Given the description of an element on the screen output the (x, y) to click on. 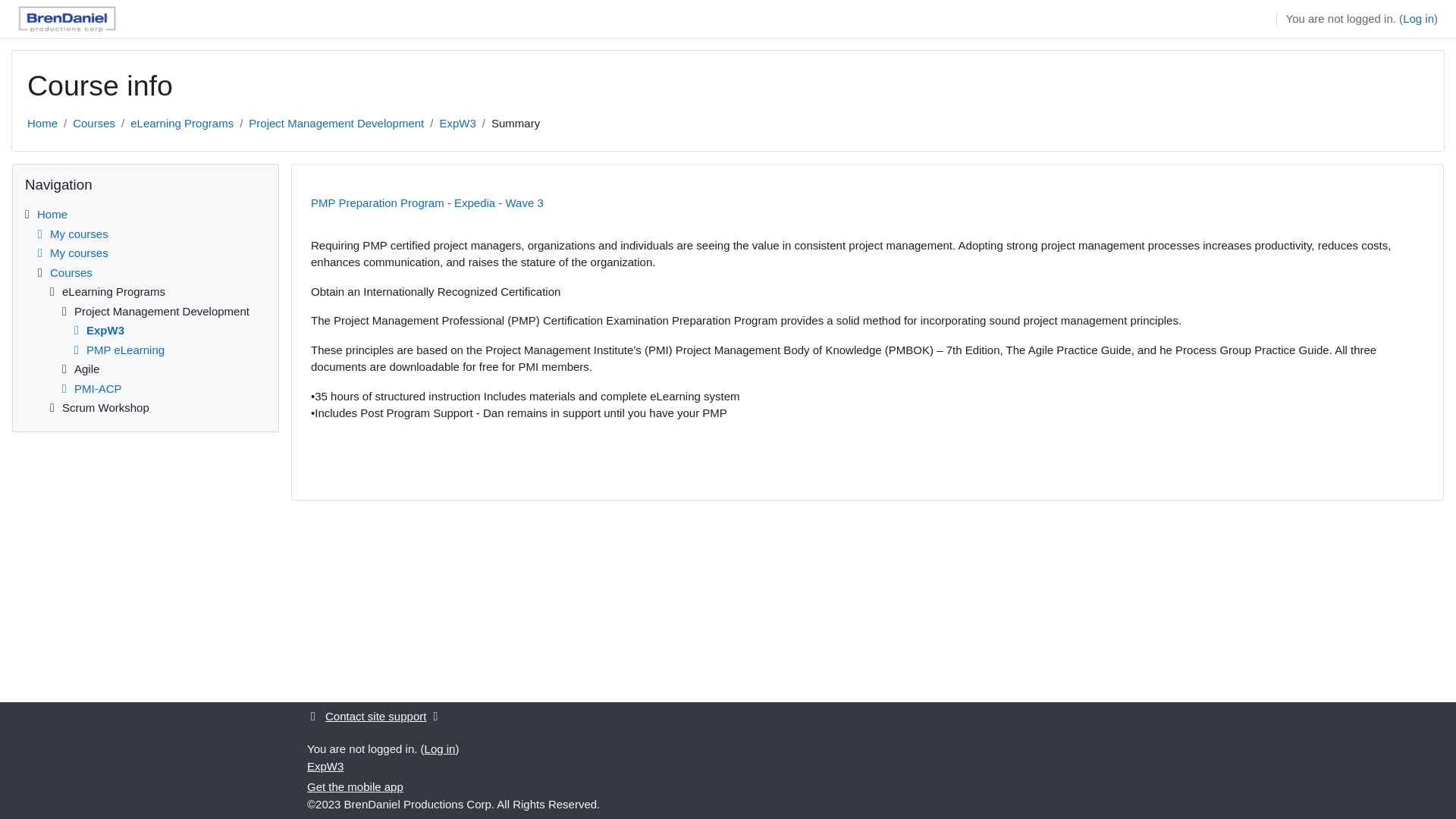
PMP eLearning (116, 349)
Log in (440, 748)
PMI-ACP (90, 388)
PMP Preparation Program - Expedia - Wave 3 (457, 123)
My courses (70, 252)
ExpW3 (457, 123)
Project Management Development (335, 123)
Courses (93, 123)
PMI-ACP Exam Preparation Course (90, 388)
ExpW3 (96, 329)
Get the mobile app (355, 786)
Contact site support (376, 716)
Home (51, 214)
PMP Preparation Program - Expedia - Wave 3 (427, 201)
